Given the description of an element on the screen output the (x, y) to click on. 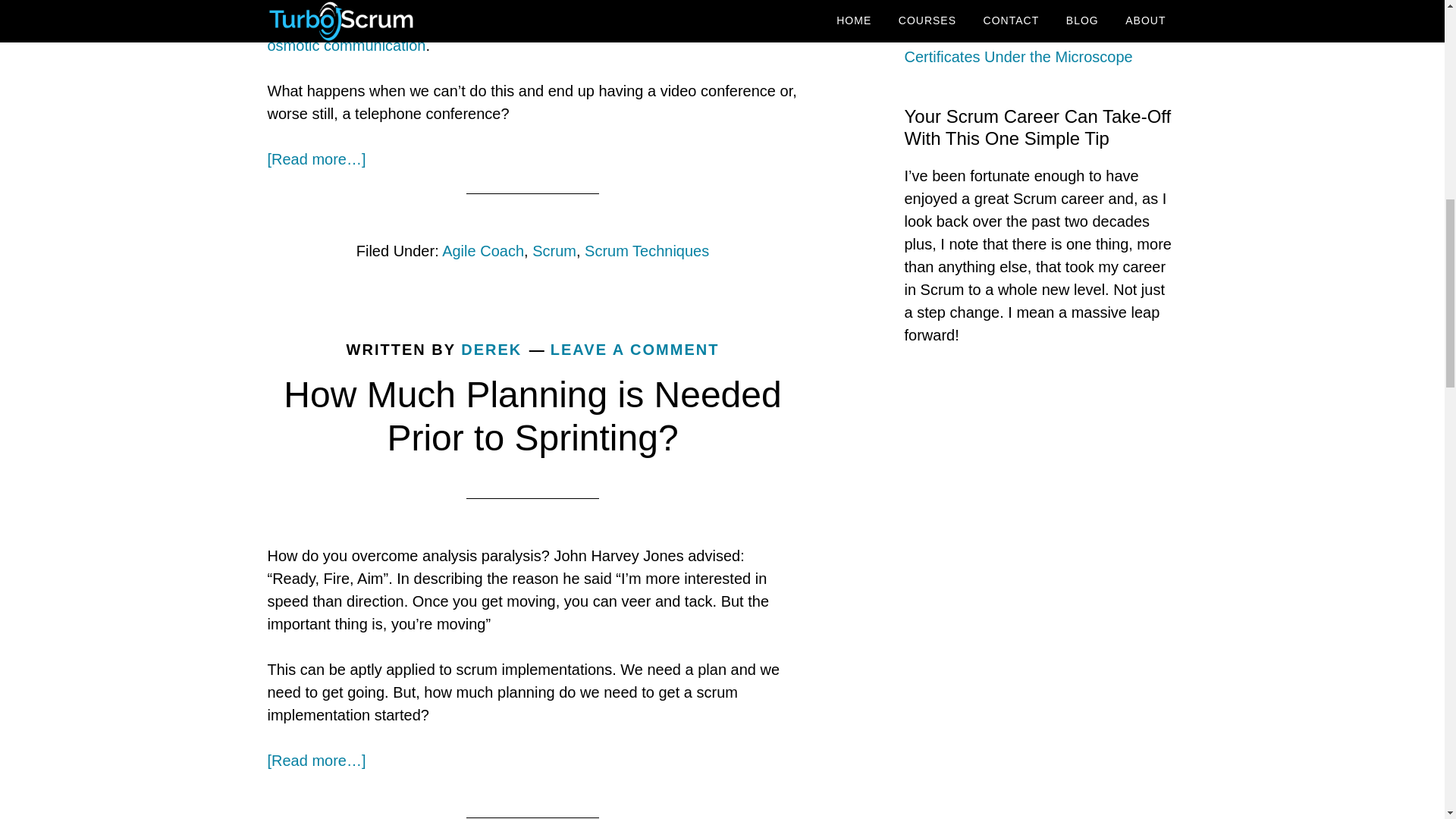
Scrum (554, 250)
DEREK (491, 349)
Agile Coach (483, 250)
Scrum Techniques (647, 250)
How Much Planning is Needed Prior to Sprinting? (531, 416)
LEAVE A COMMENT (634, 349)
osmotic communication (345, 45)
